Given the description of an element on the screen output the (x, y) to click on. 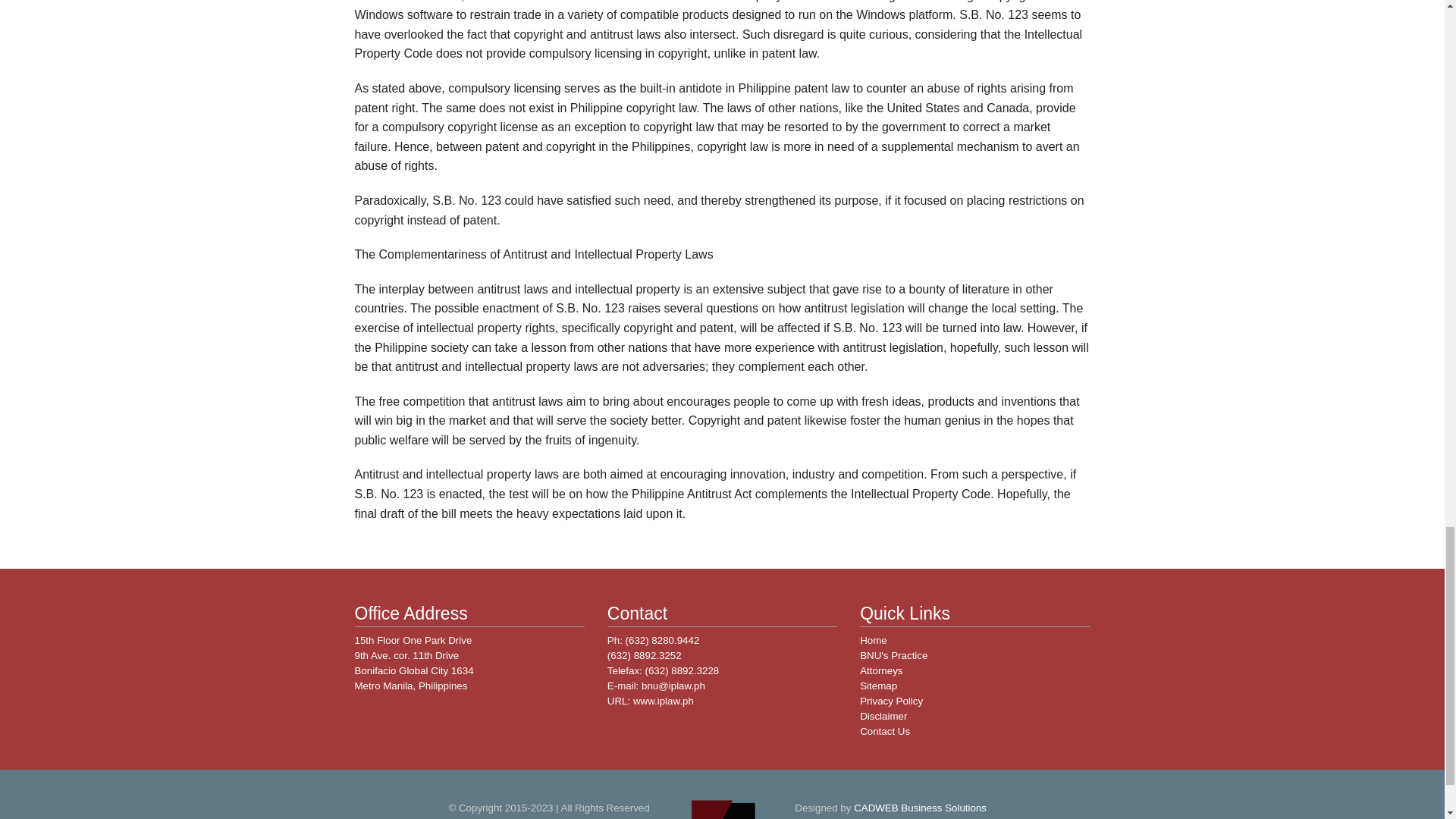
Contact Us (885, 731)
Sitemap (878, 685)
Attorneys (881, 670)
Home (873, 640)
BNU's Practice (893, 655)
Privacy Policy (891, 700)
CADWEB Business Solutions (920, 808)
Disclaimer (883, 715)
